Given the description of an element on the screen output the (x, y) to click on. 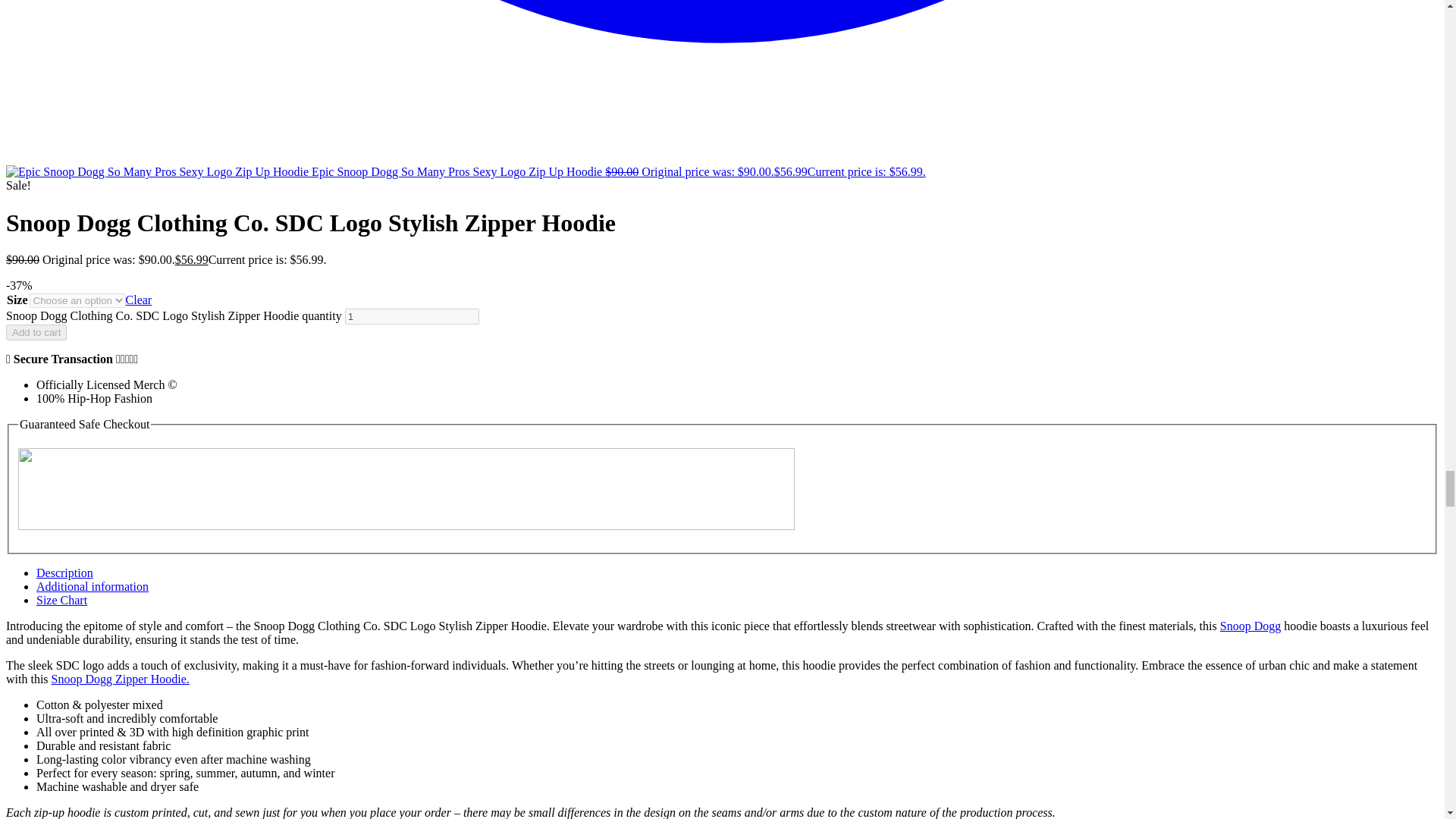
1 (412, 316)
